Given the description of an element on the screen output the (x, y) to click on. 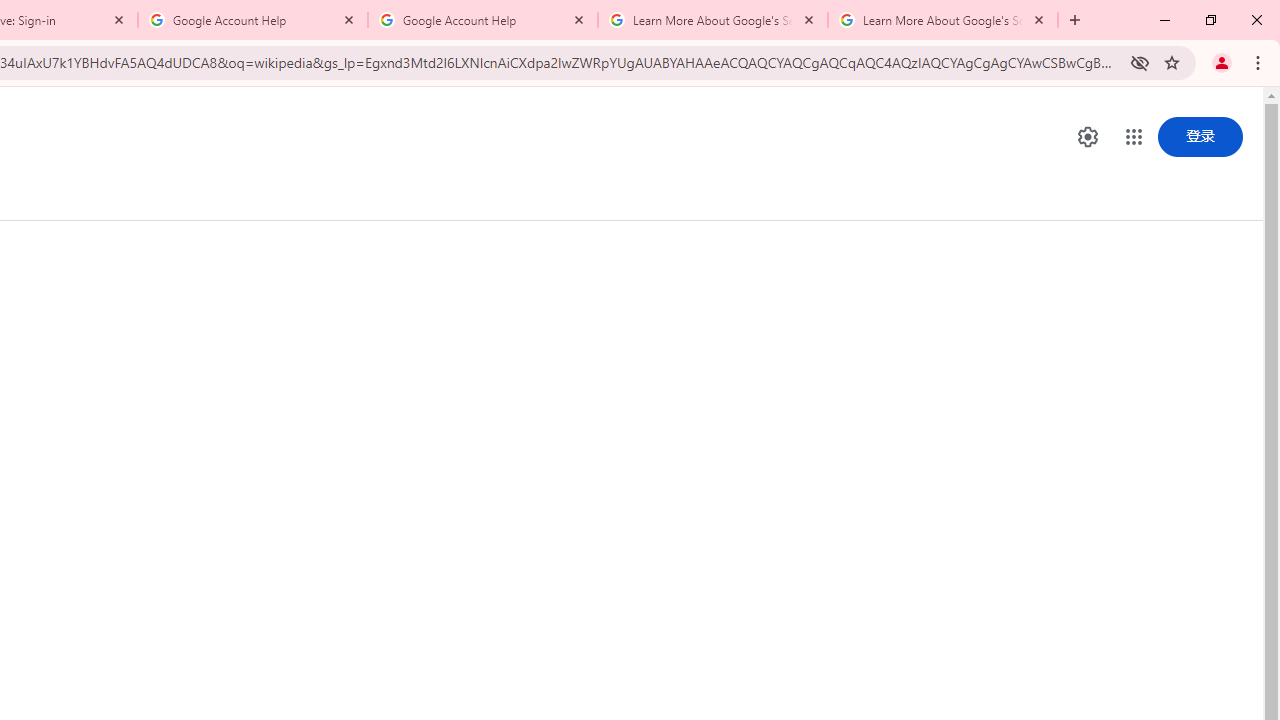
Restore (1210, 20)
New Tab (1075, 20)
Minimize (1165, 20)
Close (1039, 19)
Google Account Help (253, 20)
Third-party cookies blocked (1139, 62)
You (1221, 62)
Bookmark this tab (1171, 62)
Google Account Help (482, 20)
